Given the description of an element on the screen output the (x, y) to click on. 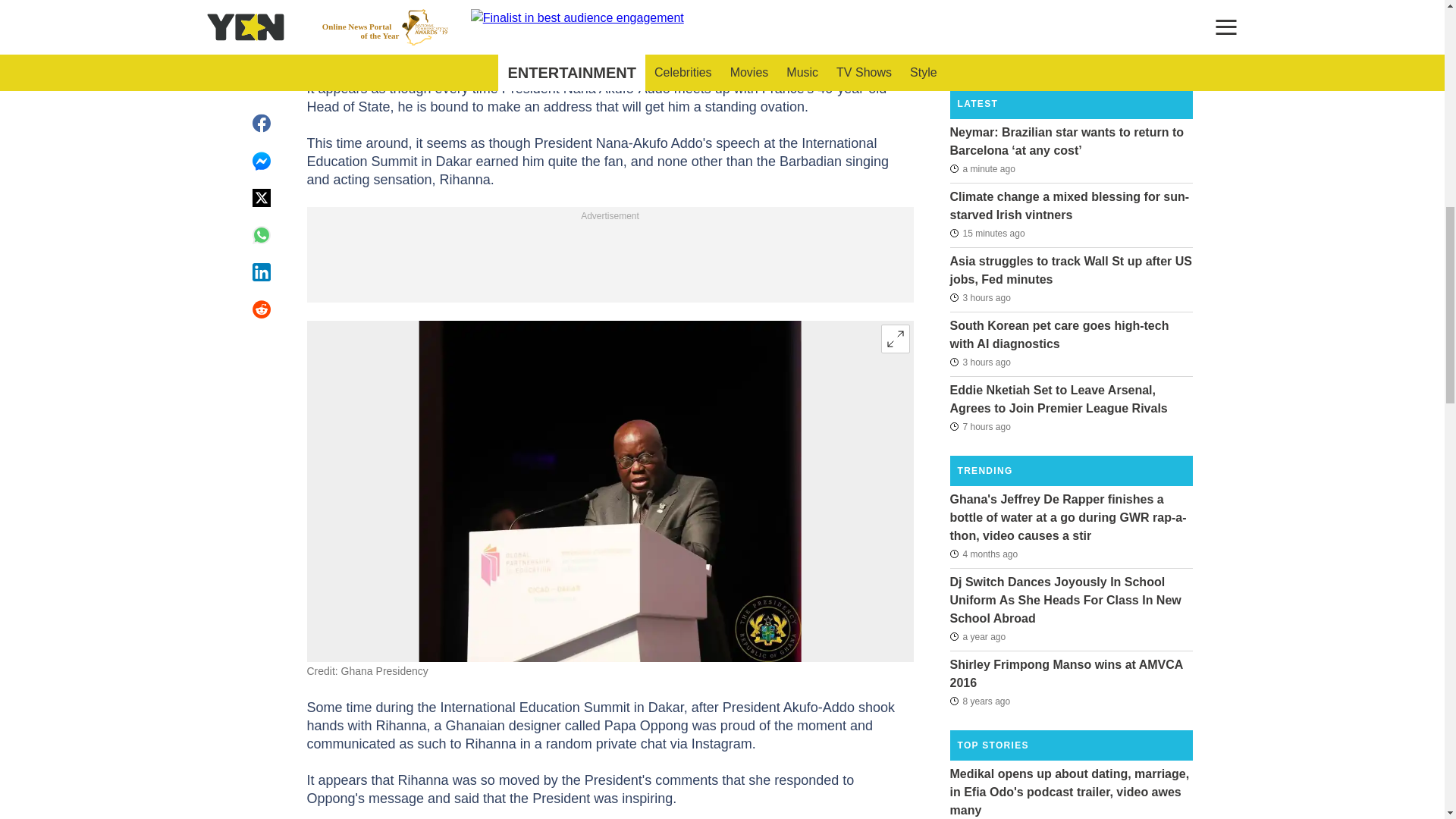
2024-08-22T06:08:04Z (987, 233)
2024-08-22T02:50:14Z (979, 361)
2024-04-03T11:28:49Z (983, 553)
2024-08-22T06:22:11Z (981, 167)
2022-09-18T06:34:18Z (977, 637)
2016-03-05T22:23:44Z (979, 700)
Expand image (895, 338)
2024-08-21T22:33:55Z (979, 425)
2024-08-22T03:05:04Z (979, 297)
